Given the description of an element on the screen output the (x, y) to click on. 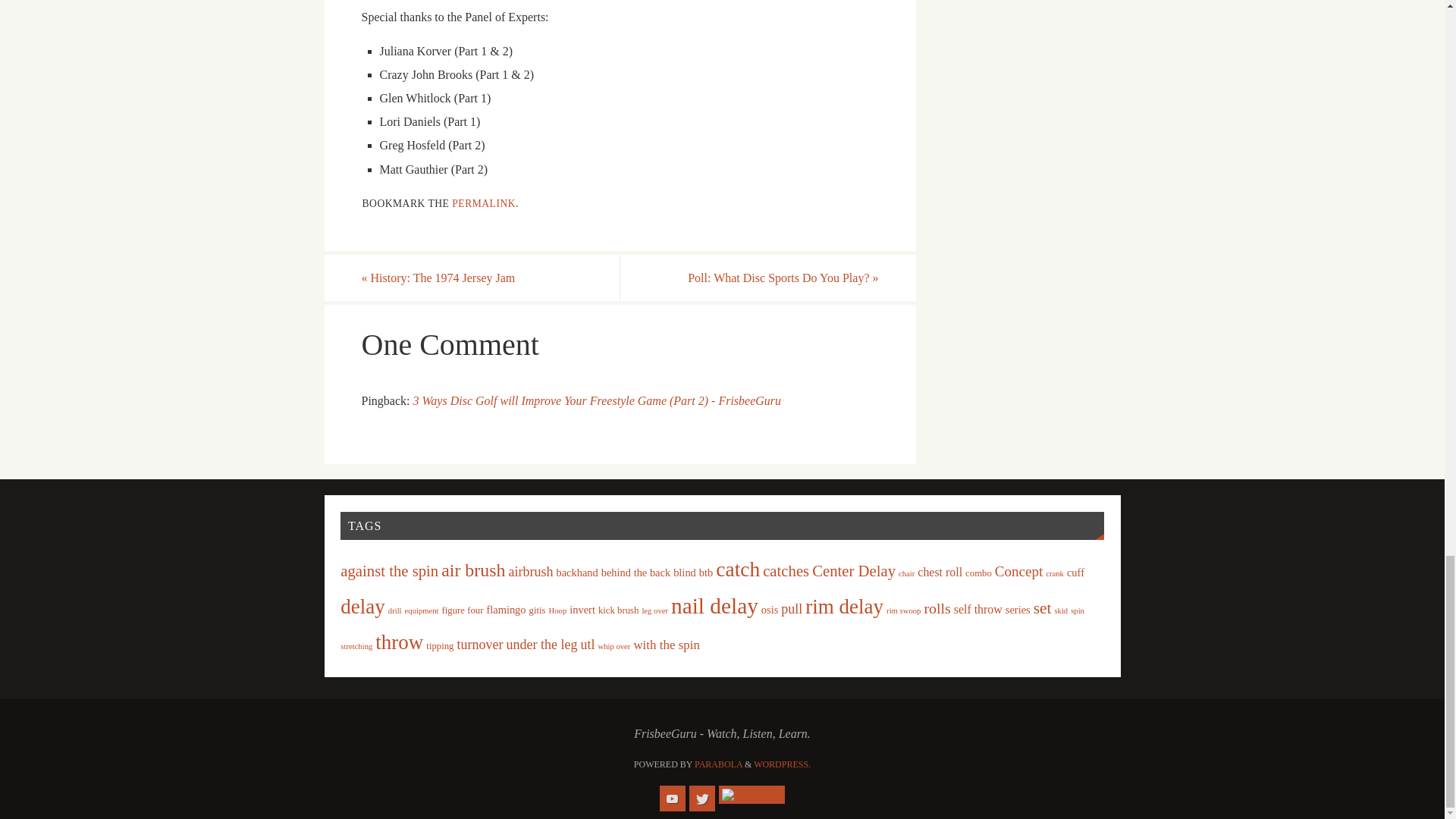
YouTube (672, 798)
PERMALINK (483, 203)
Twitter (701, 798)
Parabola Theme by Cryout Creations (718, 764)
Facebook (751, 794)
Semantic Personal Publishing Platform (782, 764)
